Given the description of an element on the screen output the (x, y) to click on. 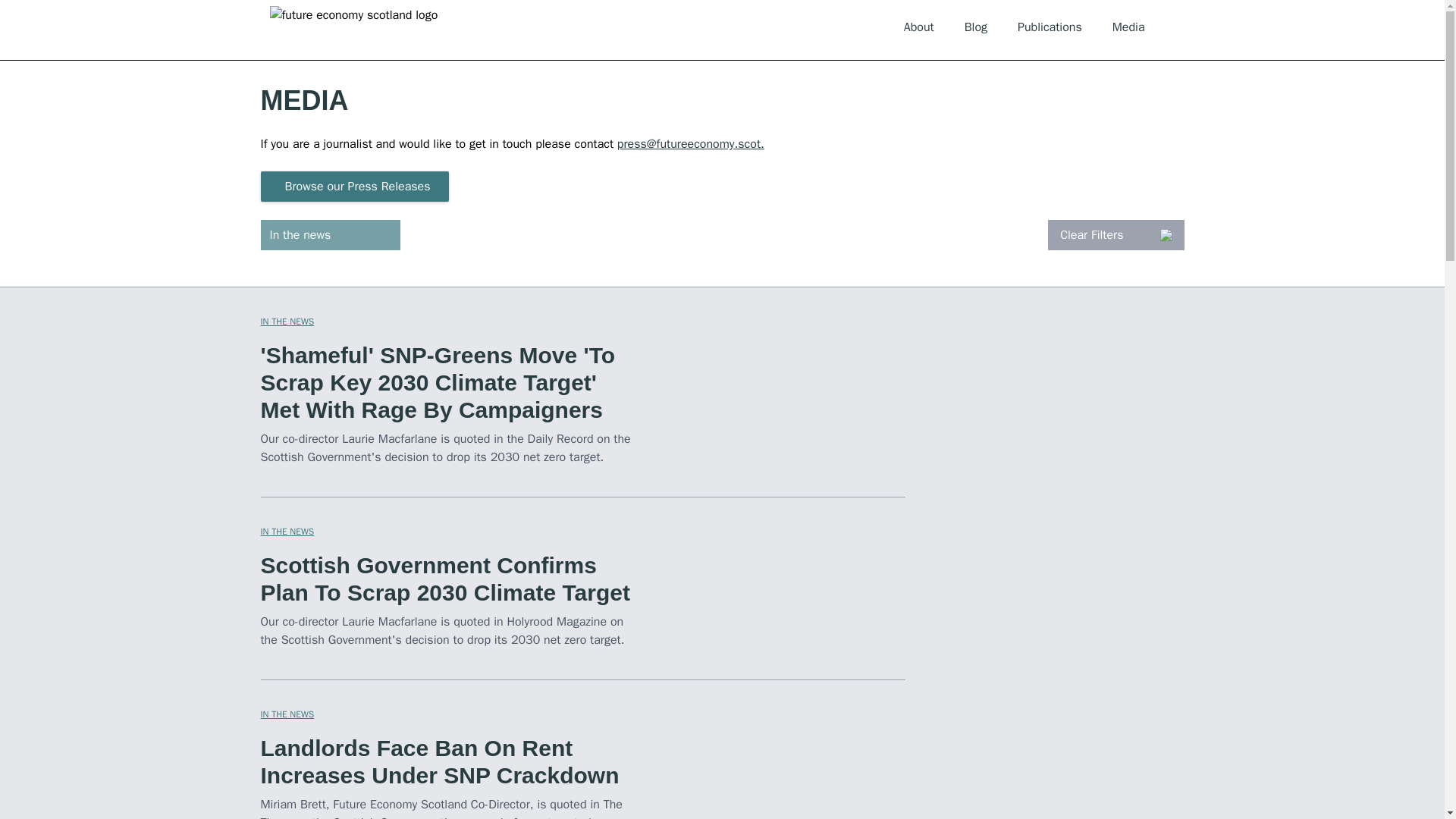
About (919, 27)
Clear Filters (1115, 235)
Publications (1049, 27)
Blog (975, 27)
Browse our Press Releases (354, 186)
Media (1128, 27)
